Given the description of an element on the screen output the (x, y) to click on. 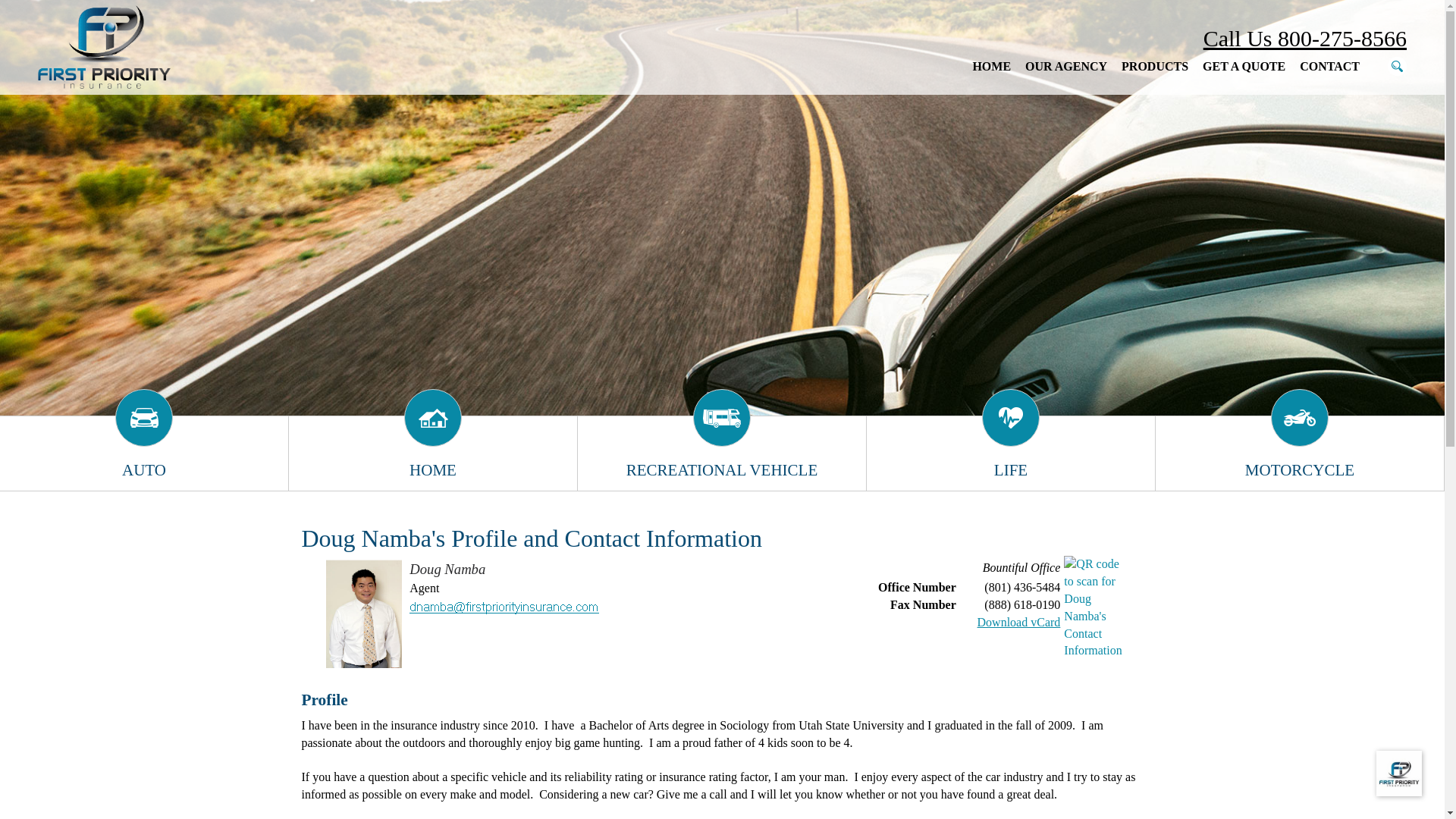
Kustomer Widget Iframe (1398, 772)
